Given the description of an element on the screen output the (x, y) to click on. 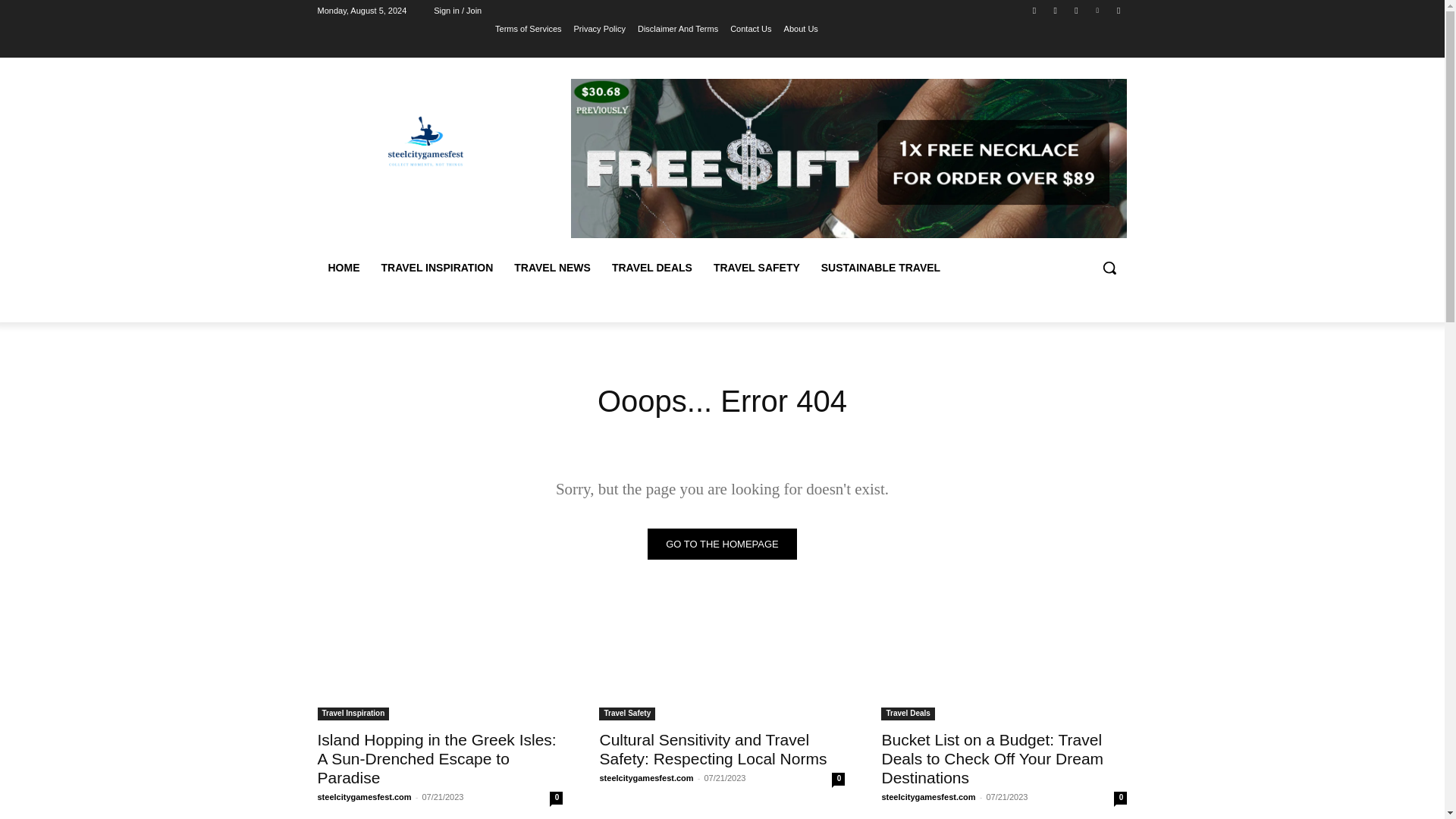
SUSTAINABLE TRAVEL (880, 267)
About Us (801, 28)
TRAVEL DEALS (652, 267)
GO TO THE HOMEPAGE (721, 543)
Go to the homepage (721, 543)
Disclaimer And Terms (677, 28)
Youtube (1117, 9)
HOME (343, 267)
Twitter (1075, 9)
Travel Inspiration (352, 713)
Facebook (1034, 9)
Instagram (1055, 9)
Privacy Policy (599, 28)
